Given the description of an element on the screen output the (x, y) to click on. 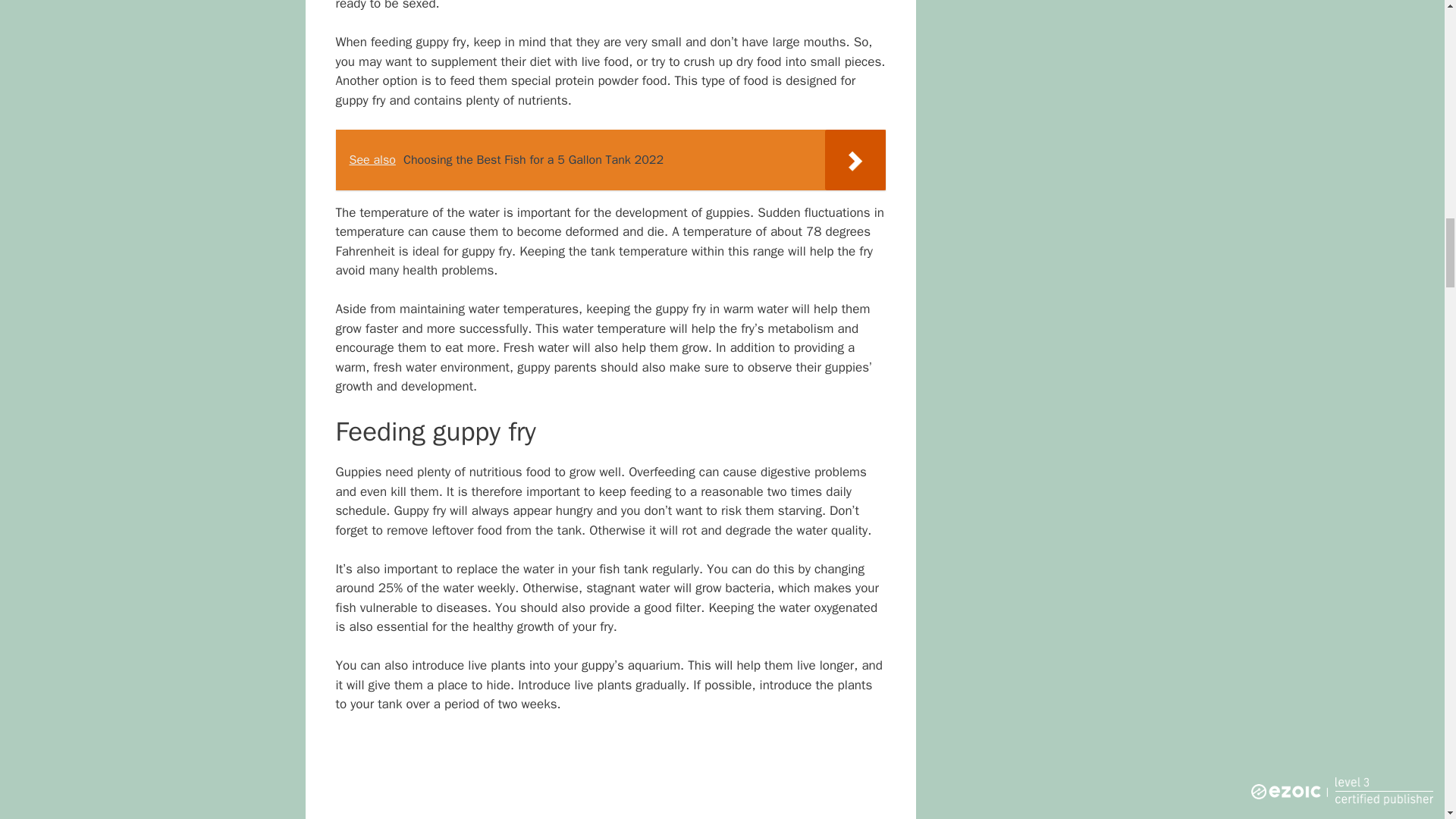
See also  Choosing the Best Fish for a 5 Gallon Tank 2022 (609, 159)
